Given the description of an element on the screen output the (x, y) to click on. 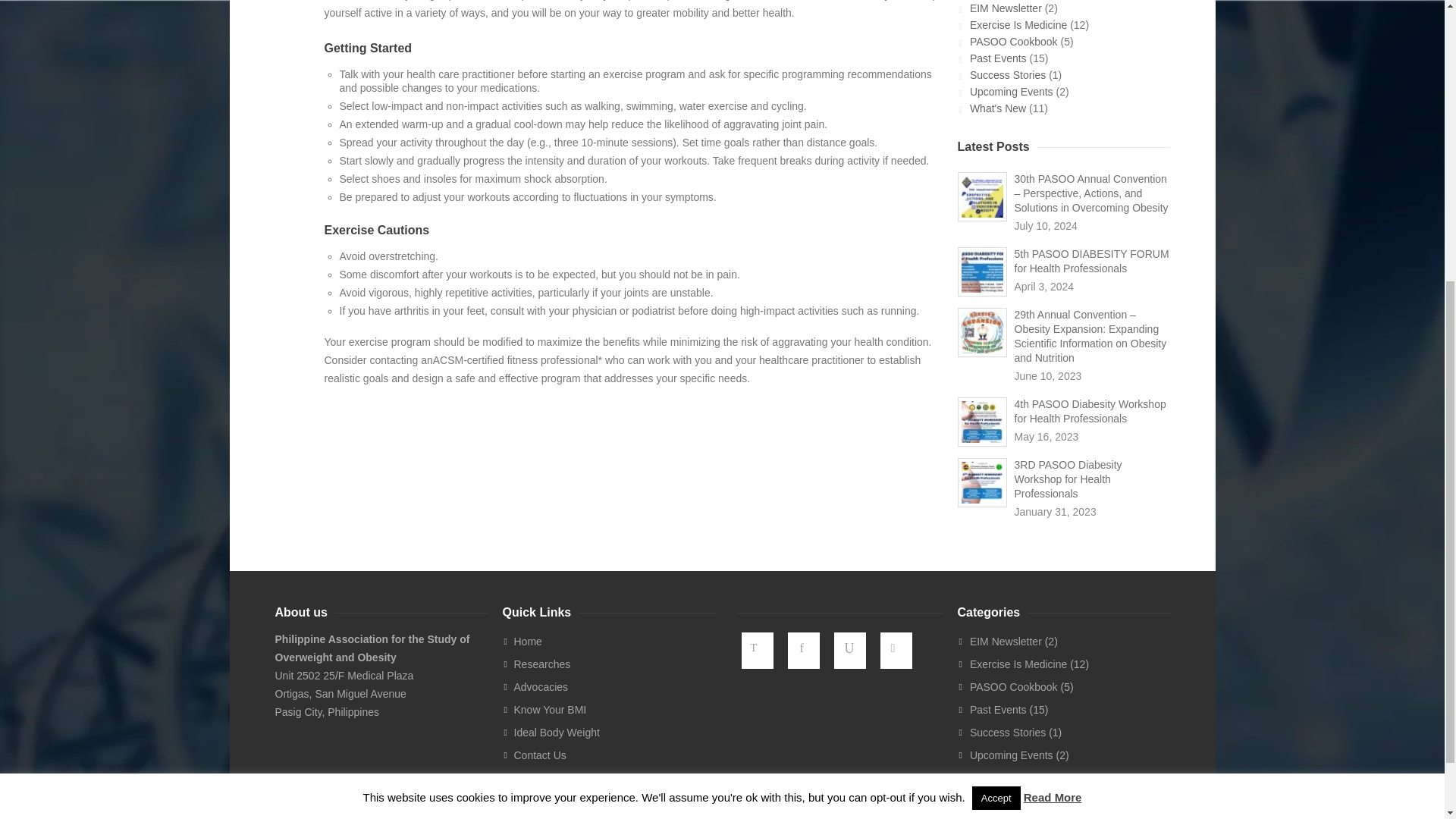
EIM Newsletter (1005, 8)
What's New (997, 108)
Past Events (997, 58)
Success Stories (1007, 74)
PASOO Cookbook (1013, 41)
Upcoming Events (1010, 91)
Exercise Is Medicine (1018, 24)
